Given the description of an element on the screen output the (x, y) to click on. 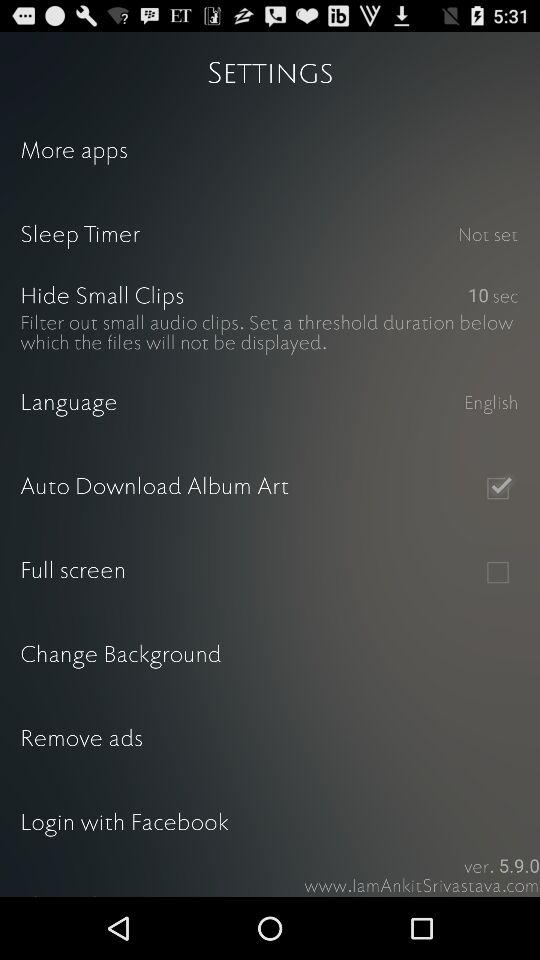
press icon above the login with facebook (270, 740)
